Given the description of an element on the screen output the (x, y) to click on. 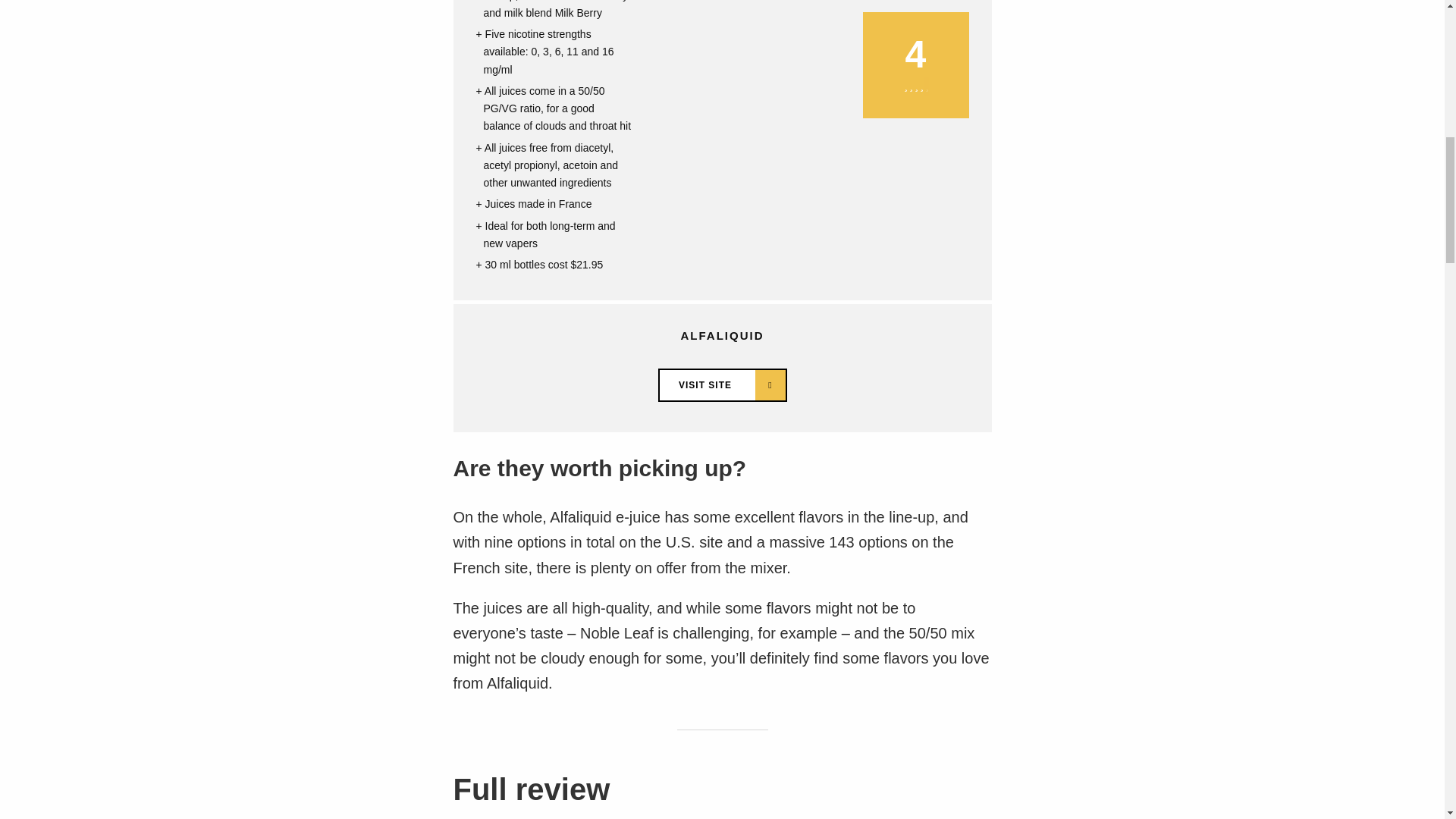
VISIT SITE (722, 385)
